Given the description of an element on the screen output the (x, y) to click on. 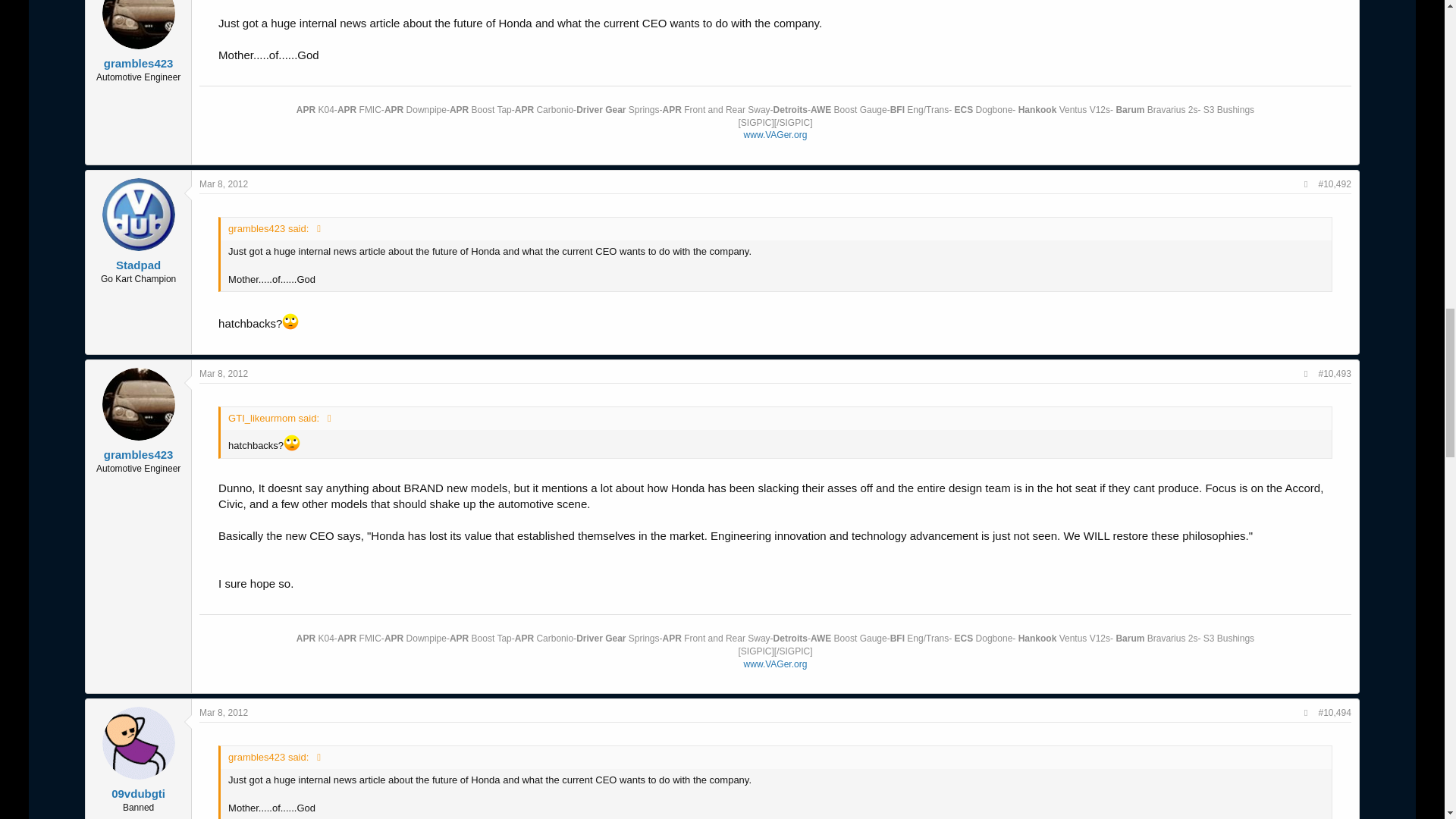
Mar 8, 2012 at 5:16 AM (223, 184)
